Given the description of an element on the screen output the (x, y) to click on. 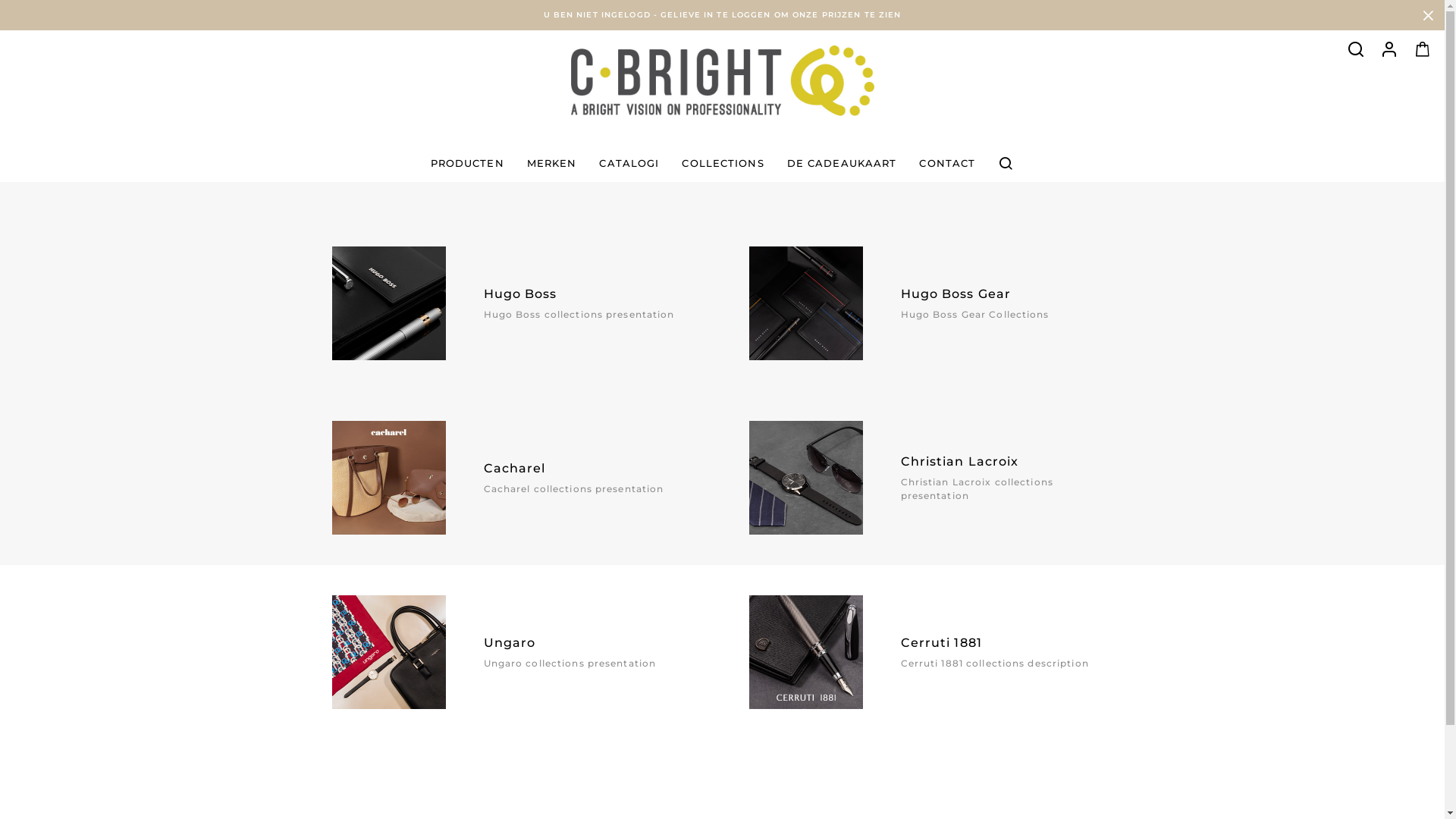
Hugo Boss
Hugo Boss collections presentation Element type: text (513, 302)
DE CADEAUKAART Element type: text (841, 163)
MERKEN Element type: text (551, 163)
Christian Lacroix
Christian Lacroix collections presentation Element type: text (930, 477)
GELIEVE IN TE LOGGEN OM ONZE PRIJZEN TE ZIEN Element type: text (780, 14)
Cacharel
Cacharel collections presentation Element type: text (513, 477)
COLLECTIONS Element type: text (722, 163)
CATALOGI Element type: text (628, 163)
Hugo Boss Gear
Hugo Boss Gear Collections Element type: text (930, 302)
CONTACT Element type: text (946, 163)
Cerruti 1881
Cerruti 1881 collections description Element type: text (930, 651)
PRODUCTEN Element type: text (467, 163)
Ungaro
Ungaro collections presentation Element type: text (513, 651)
